Given the description of an element on the screen output the (x, y) to click on. 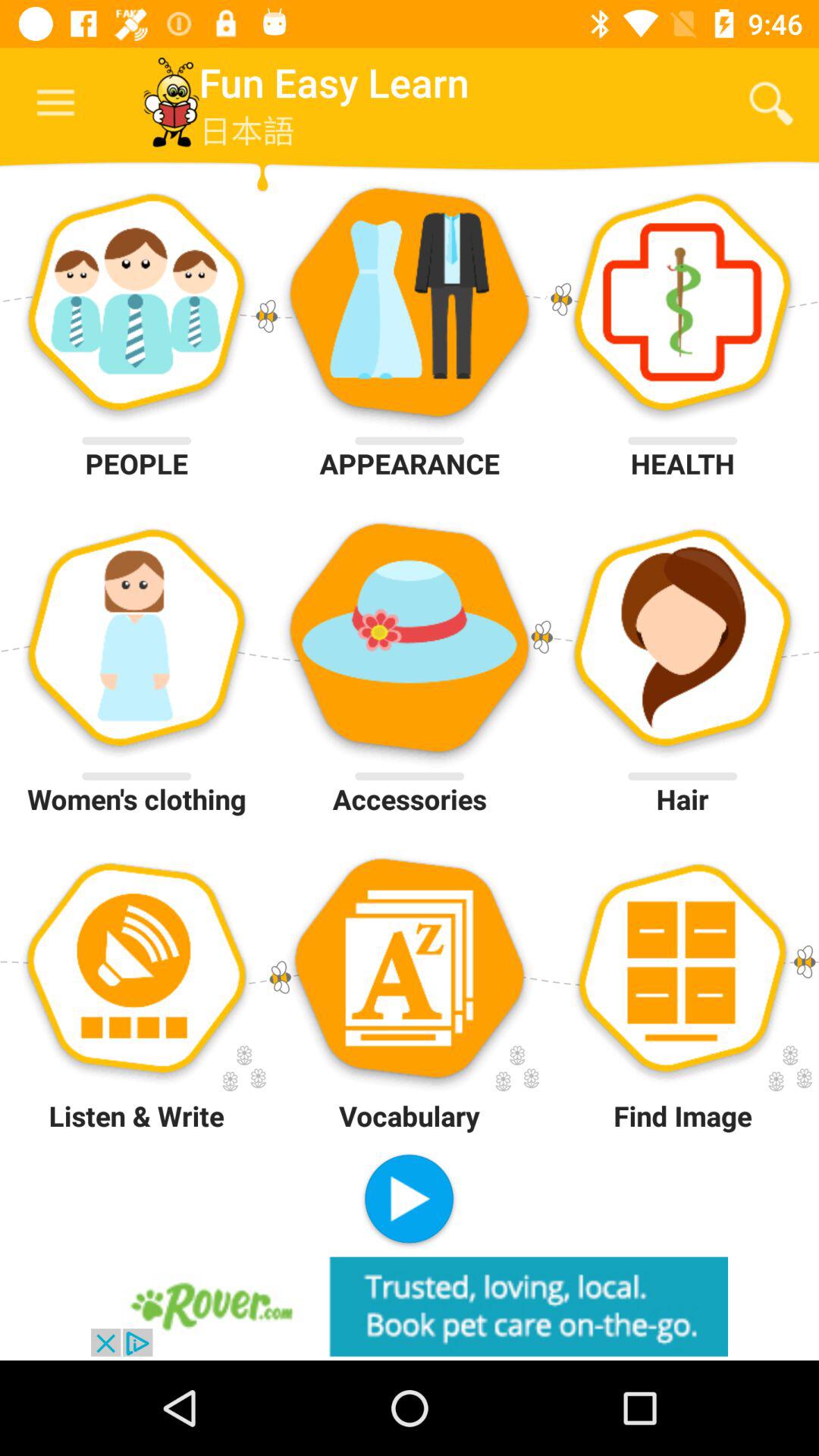
press icon to the right of the listen & write item (408, 1200)
